Given the description of an element on the screen output the (x, y) to click on. 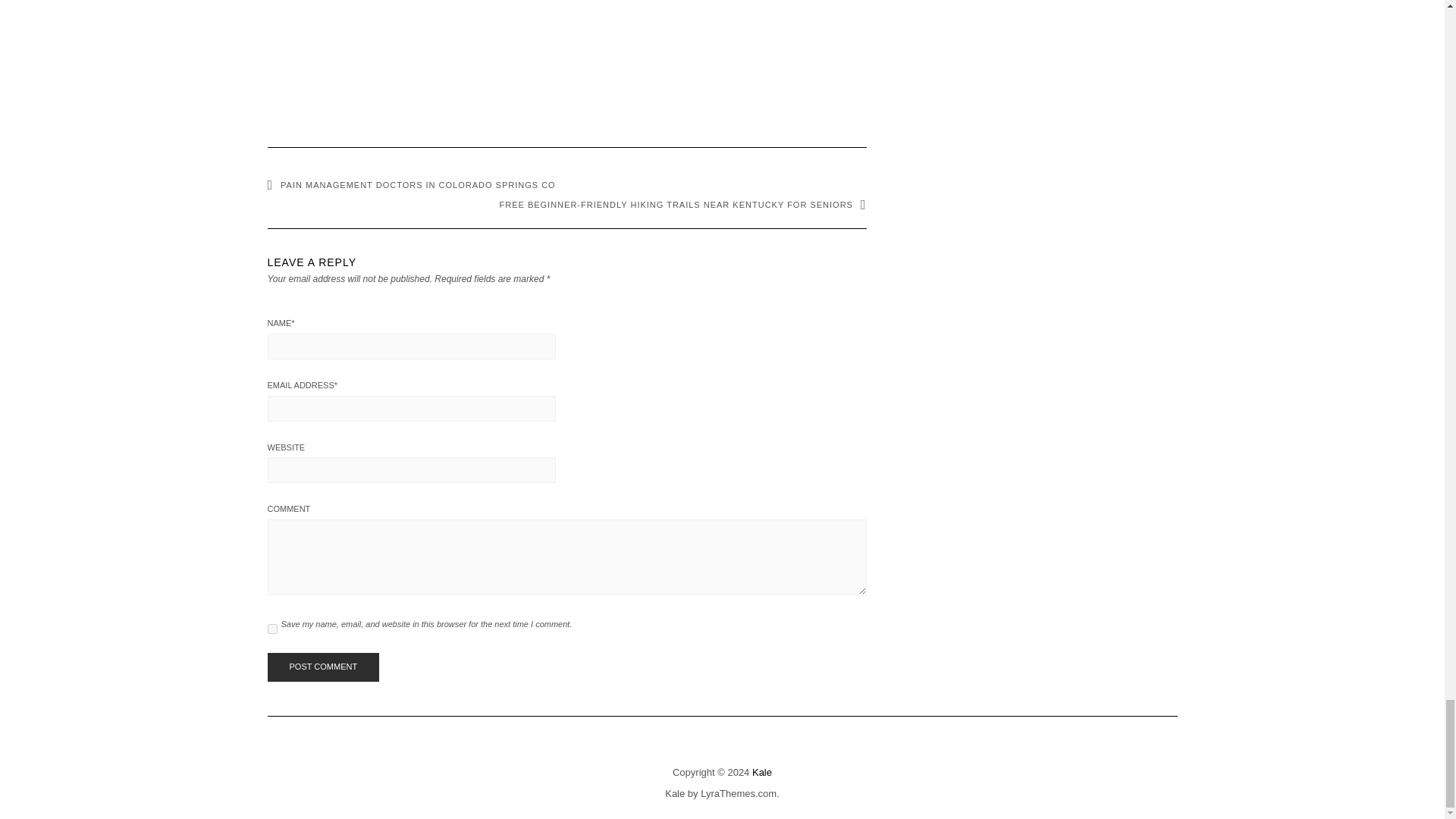
Post Comment (322, 666)
Post Comment (322, 666)
PAIN MANAGEMENT DOCTORS IN COLORADO SPRINGS CO (410, 184)
Kale (761, 772)
Kale (674, 793)
yes (271, 628)
